Given the description of an element on the screen output the (x, y) to click on. 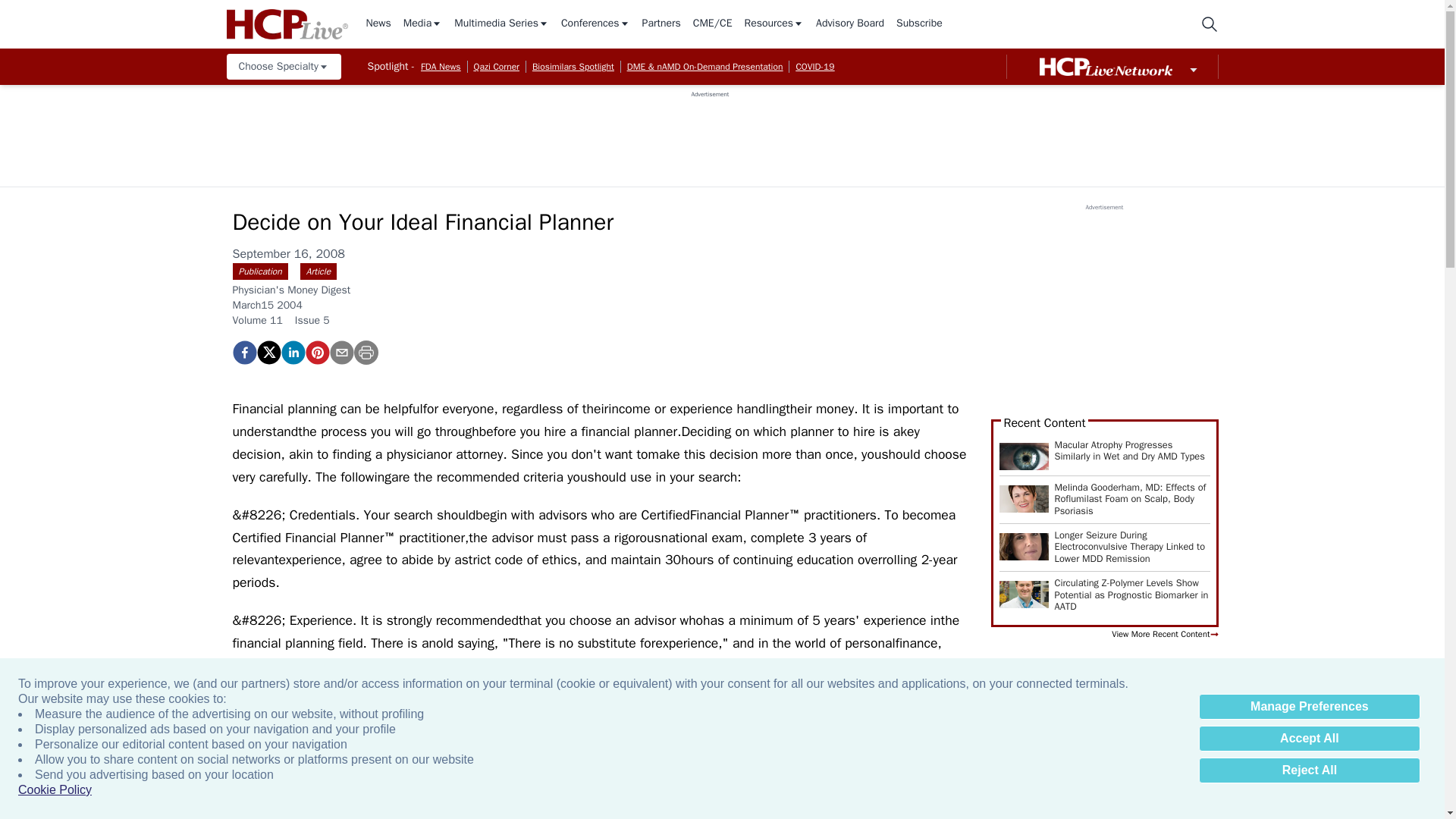
Conferences (595, 23)
Decide on Your Ideal Financial Planner (243, 352)
Media (422, 23)
Multimedia Series (501, 23)
Manage Preferences (1309, 706)
Cookie Policy (54, 789)
Reject All (1309, 769)
Resources (773, 23)
Partners (661, 23)
Accept All (1309, 738)
Advisory Board (849, 23)
News (377, 23)
3rd party ad content (709, 132)
